Given the description of an element on the screen output the (x, y) to click on. 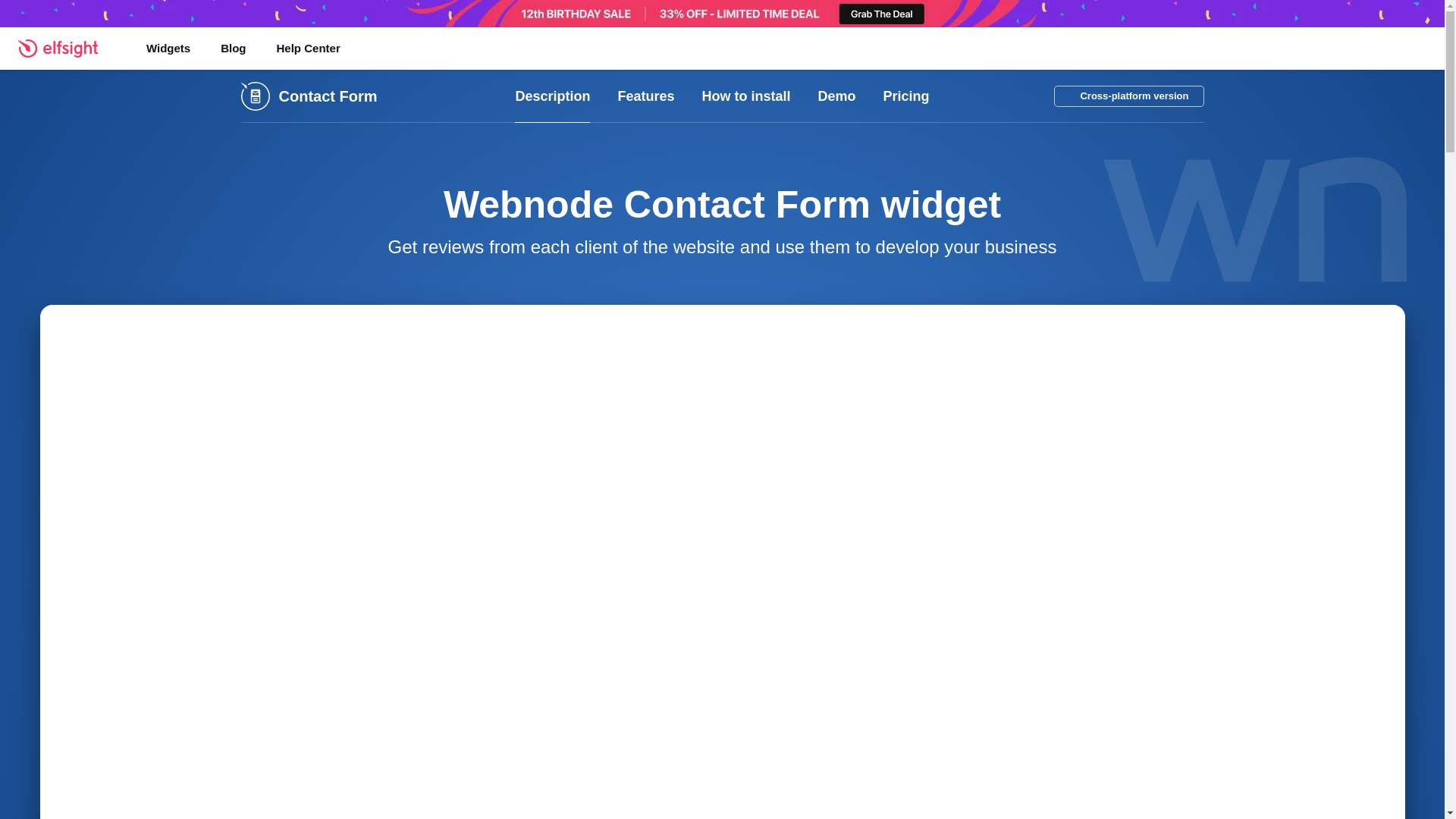
Widgets (168, 48)
Full Screen (1381, 327)
Elfsight - Premium Plugins For Websites (66, 48)
